Given the description of an element on the screen output the (x, y) to click on. 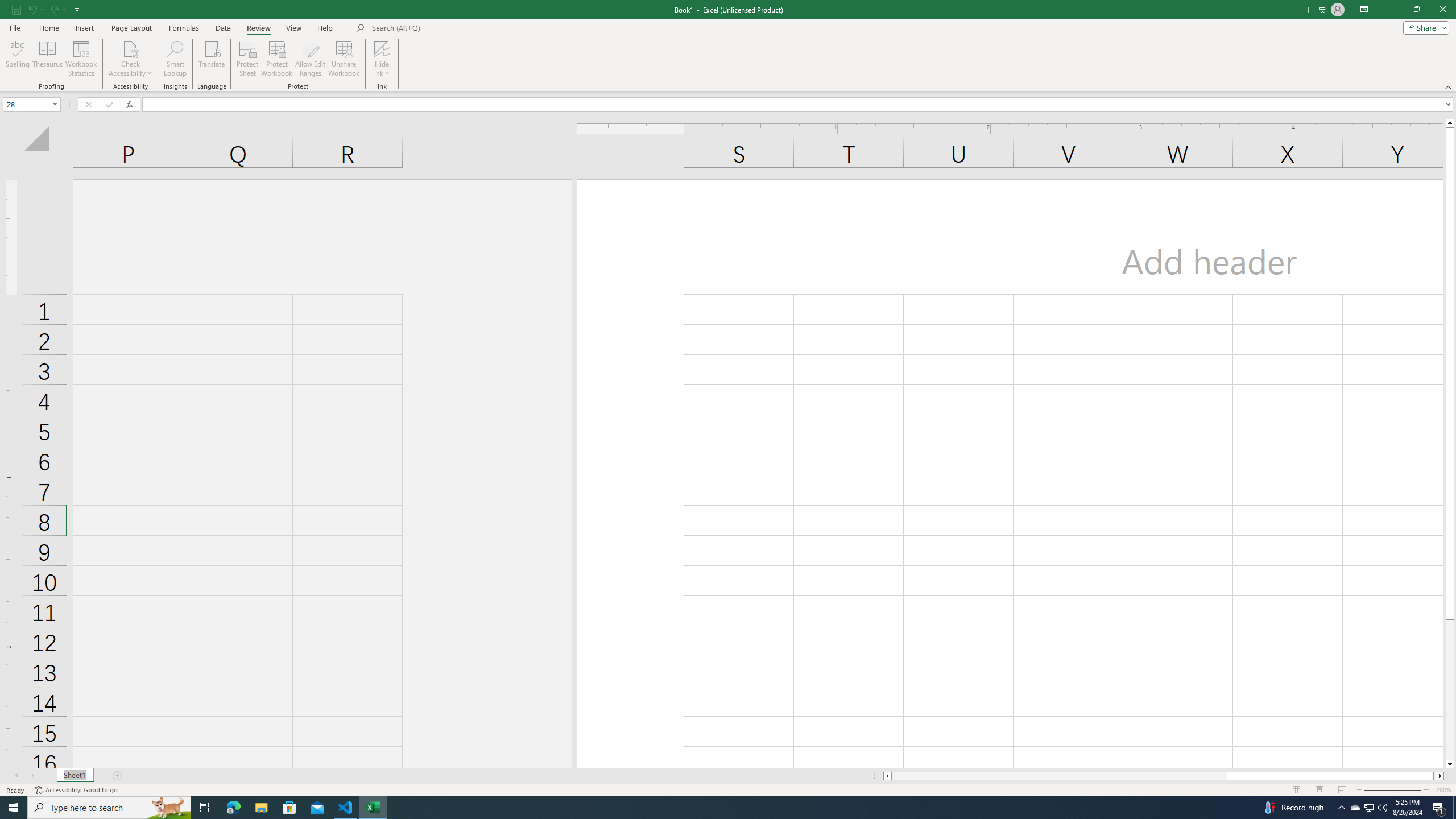
Data (223, 28)
Check Accessibility (129, 48)
Sheet1 (74, 775)
Translate (211, 58)
Hide Ink (381, 58)
Hide Ink (381, 48)
Share (1423, 27)
Sheet Tab (74, 775)
Add Sheet (117, 775)
Normal (1296, 790)
Column left (886, 775)
Thesaurus... (47, 58)
Help (325, 28)
Minimize (1390, 9)
